Given the description of an element on the screen output the (x, y) to click on. 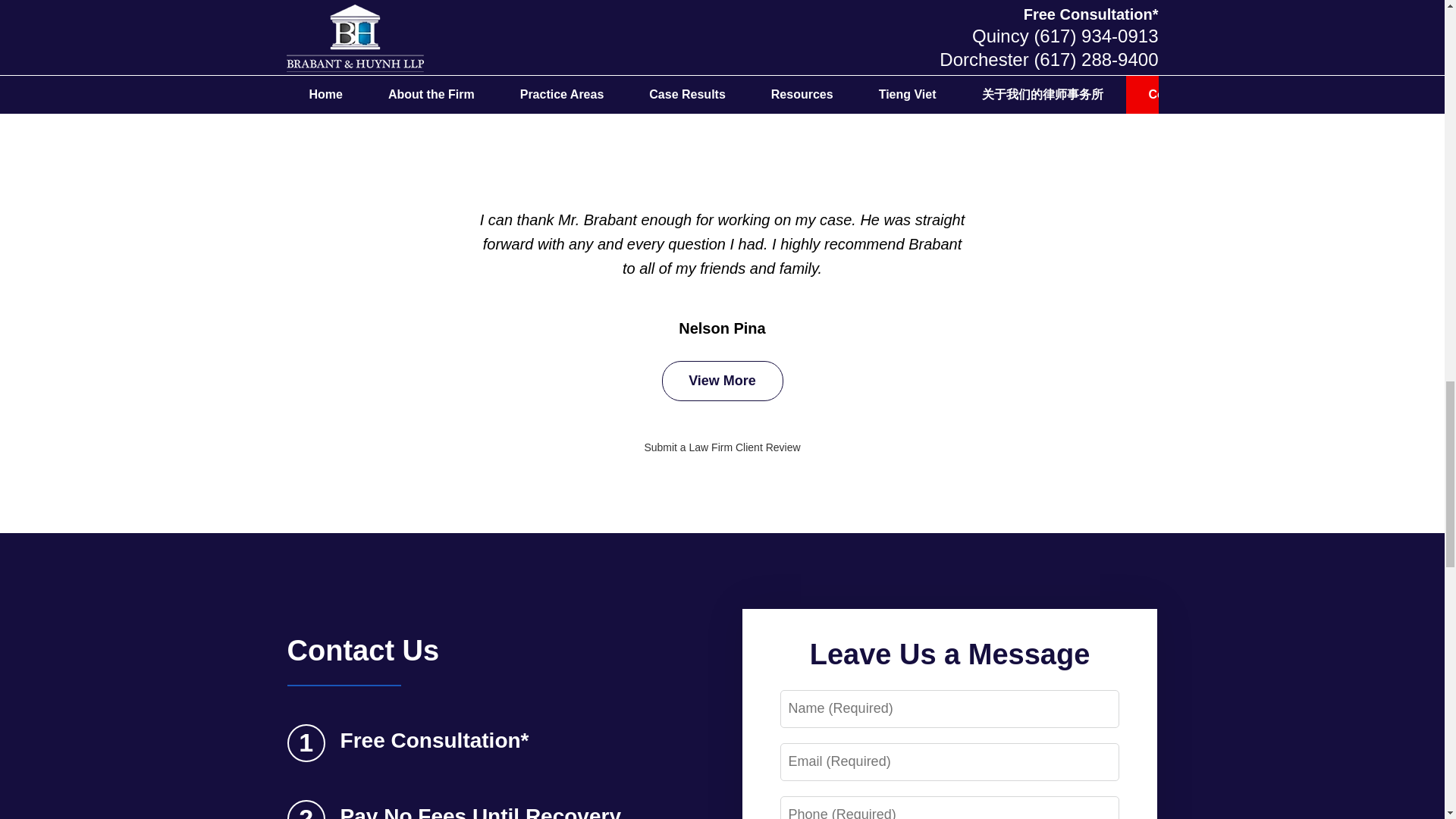
Client Reviews (722, 51)
Contact Us (362, 650)
View More (722, 381)
Submit a Law Firm Client Review (721, 447)
